Given the description of an element on the screen output the (x, y) to click on. 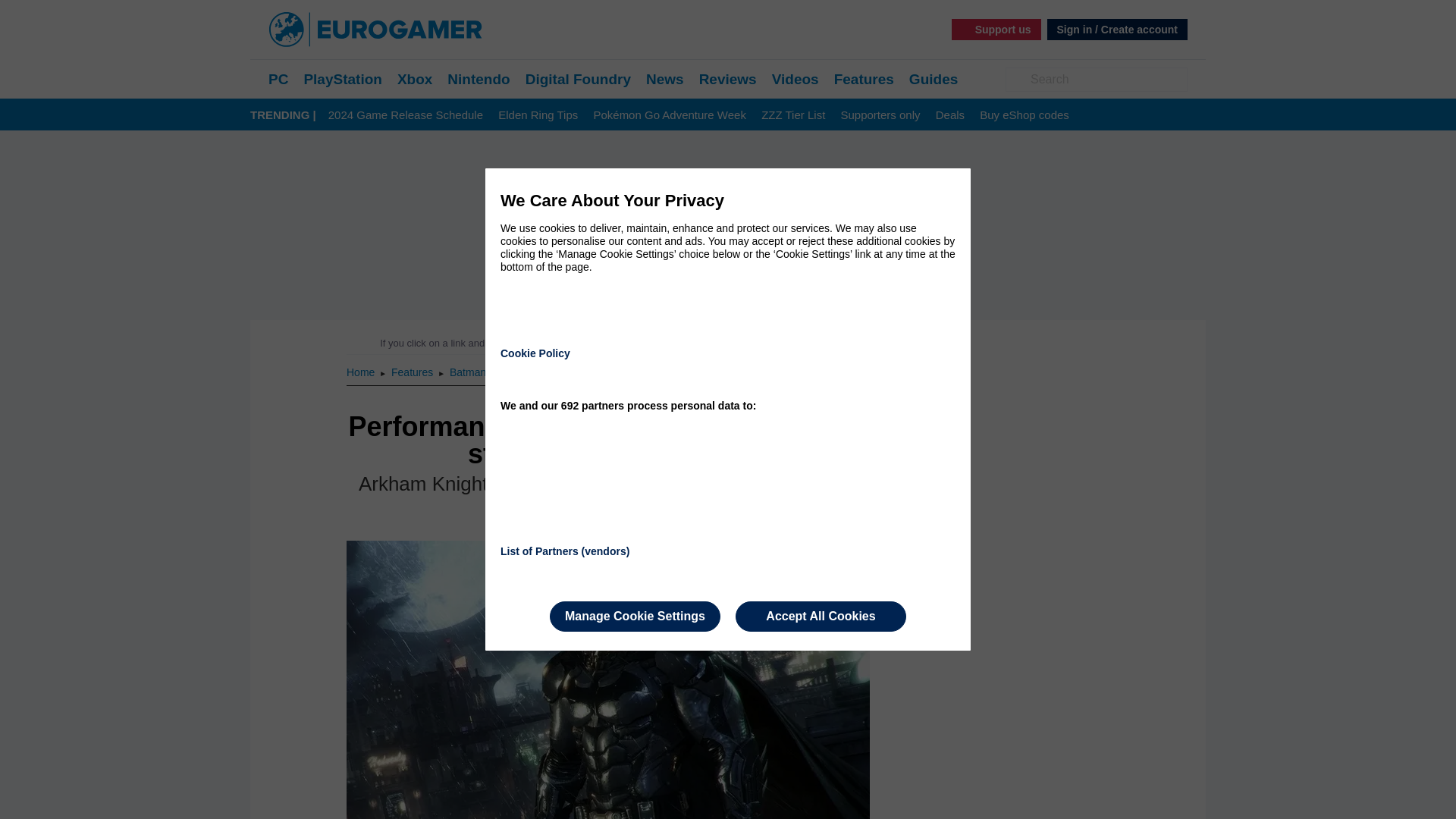
Buy eShop codes (1023, 114)
Videos (794, 78)
2024 Game Release Schedule (406, 114)
Deals (949, 114)
Supporters only (880, 114)
Batman: Arkham Knight (504, 372)
Elden Ring Tips (537, 114)
2024 Game Release Schedule (406, 114)
Features (863, 78)
Read our editorial policy (781, 342)
